Given the description of an element on the screen output the (x, y) to click on. 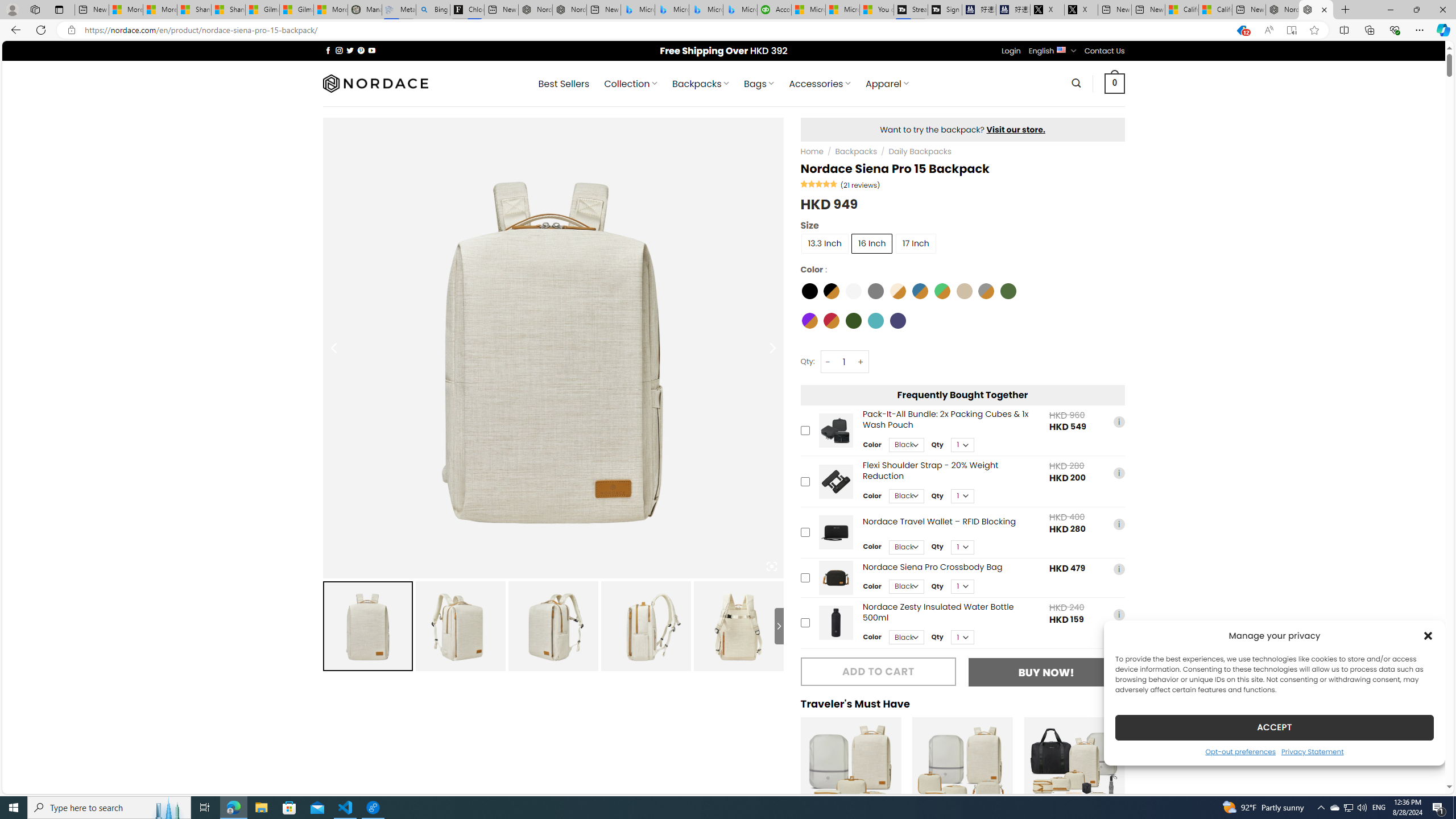
Class: cmplz-close (1428, 635)
Add this product to cart (804, 623)
Opt-out preferences (1240, 750)
Nordace Zesty Insulated Water Bottle 500ml (835, 623)
App bar (728, 29)
Split screen (1344, 29)
Follow on Twitter (349, 49)
Copilot (Ctrl+Shift+.) (1442, 29)
Class: iconic-woothumbs-fullscreen (771, 566)
i (1118, 614)
17 Inch (915, 242)
Search (1076, 83)
